Given the description of an element on the screen output the (x, y) to click on. 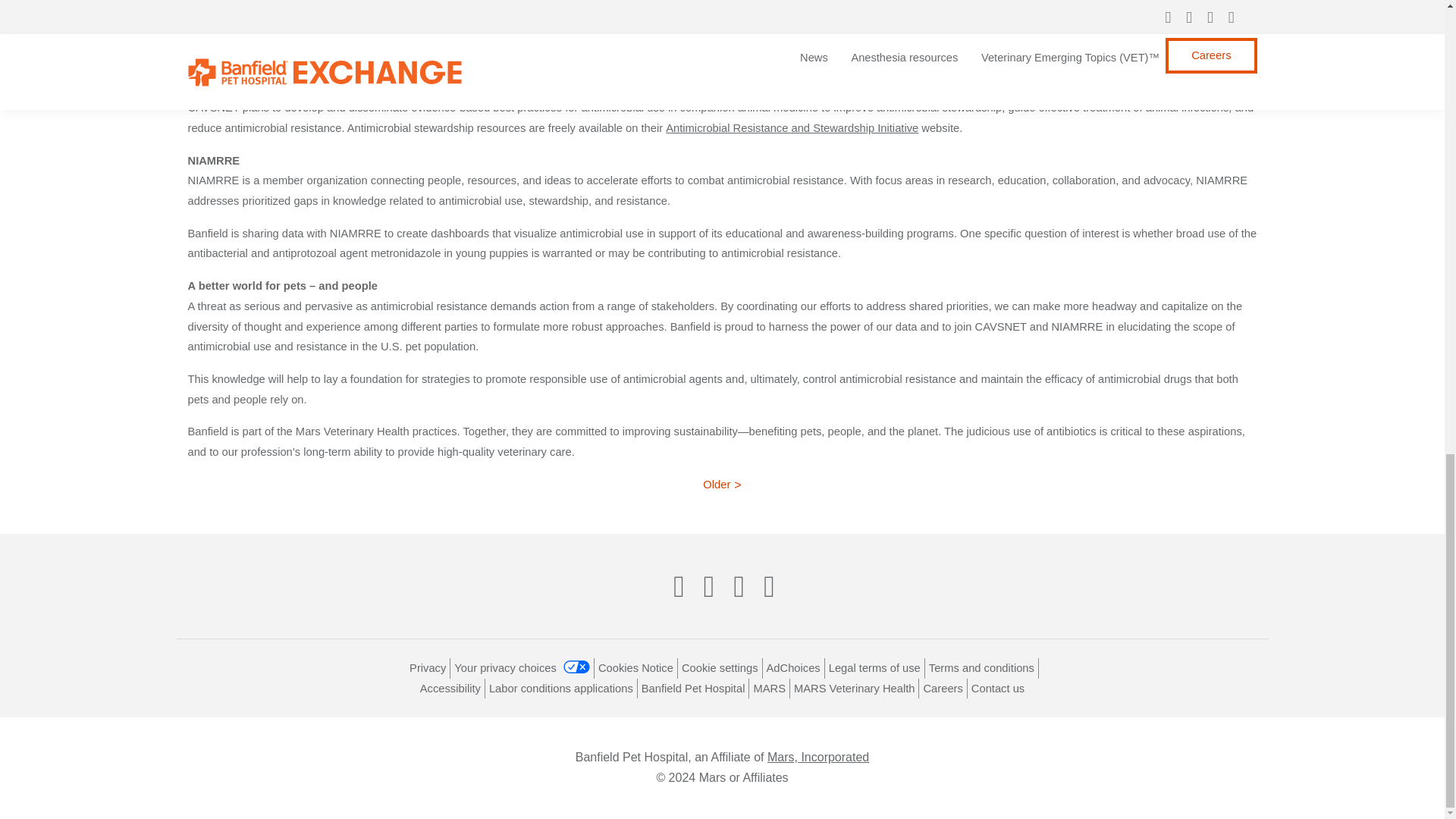
Opens in new tab (980, 667)
Banfield Pet Hospital (693, 688)
Accessibility (450, 688)
Privacy (427, 667)
Opens in new tab (693, 688)
Labor conditions applications (561, 688)
opens in new window (521, 667)
Opens in new tab (794, 667)
AdChoices (794, 667)
Terms and conditions (980, 667)
opens in new window (874, 667)
Opens in new tab (450, 688)
MARS (769, 688)
Your privacy choices (521, 667)
Cookie settings (719, 667)
